Given the description of an element on the screen output the (x, y) to click on. 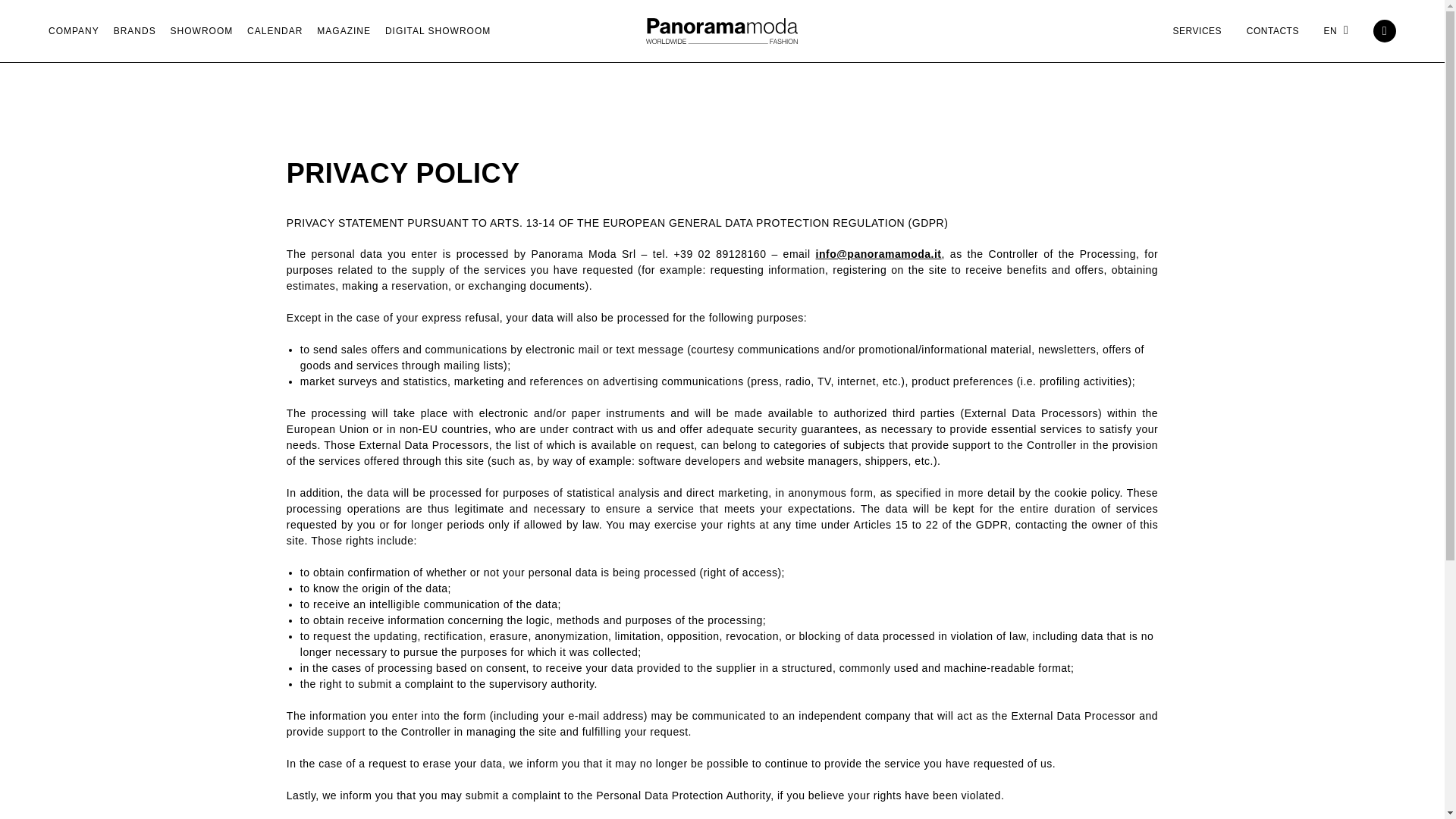
DIGITAL SHOWROOM (437, 30)
Calendar (274, 30)
Digital Showroom (437, 30)
Showroom (201, 30)
Instagram Panorama Moda (1384, 30)
Magazine (344, 30)
CALENDAR (274, 30)
BRANDS (134, 30)
EN (1336, 31)
Panorama Moda - Home (721, 31)
Services (1203, 31)
EN (1336, 31)
CONTACTS (1278, 31)
SHOWROOM (201, 30)
Brands (134, 30)
